Given the description of an element on the screen output the (x, y) to click on. 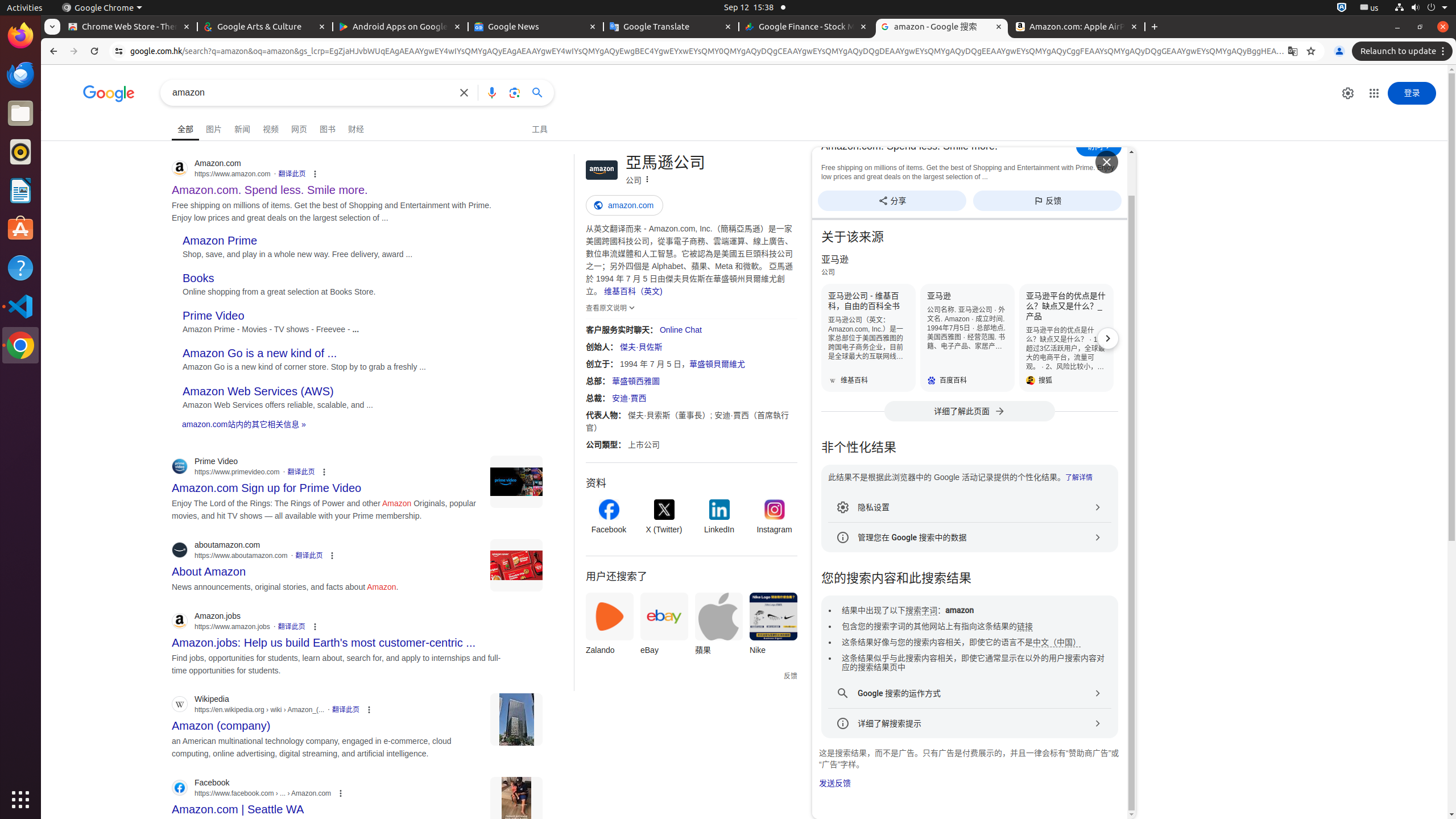
来自www.aboutamazon.com的“amazon” Element type: link (516, 564)
amazon.com站内的其它相关信息 » Element type: link (243, 423)
Google 应用 Element type: push-button (1373, 92)
查看原文说明 Element type: push-button (611, 307)
Facebook Element type: link (608, 517)
